Given the description of an element on the screen output the (x, y) to click on. 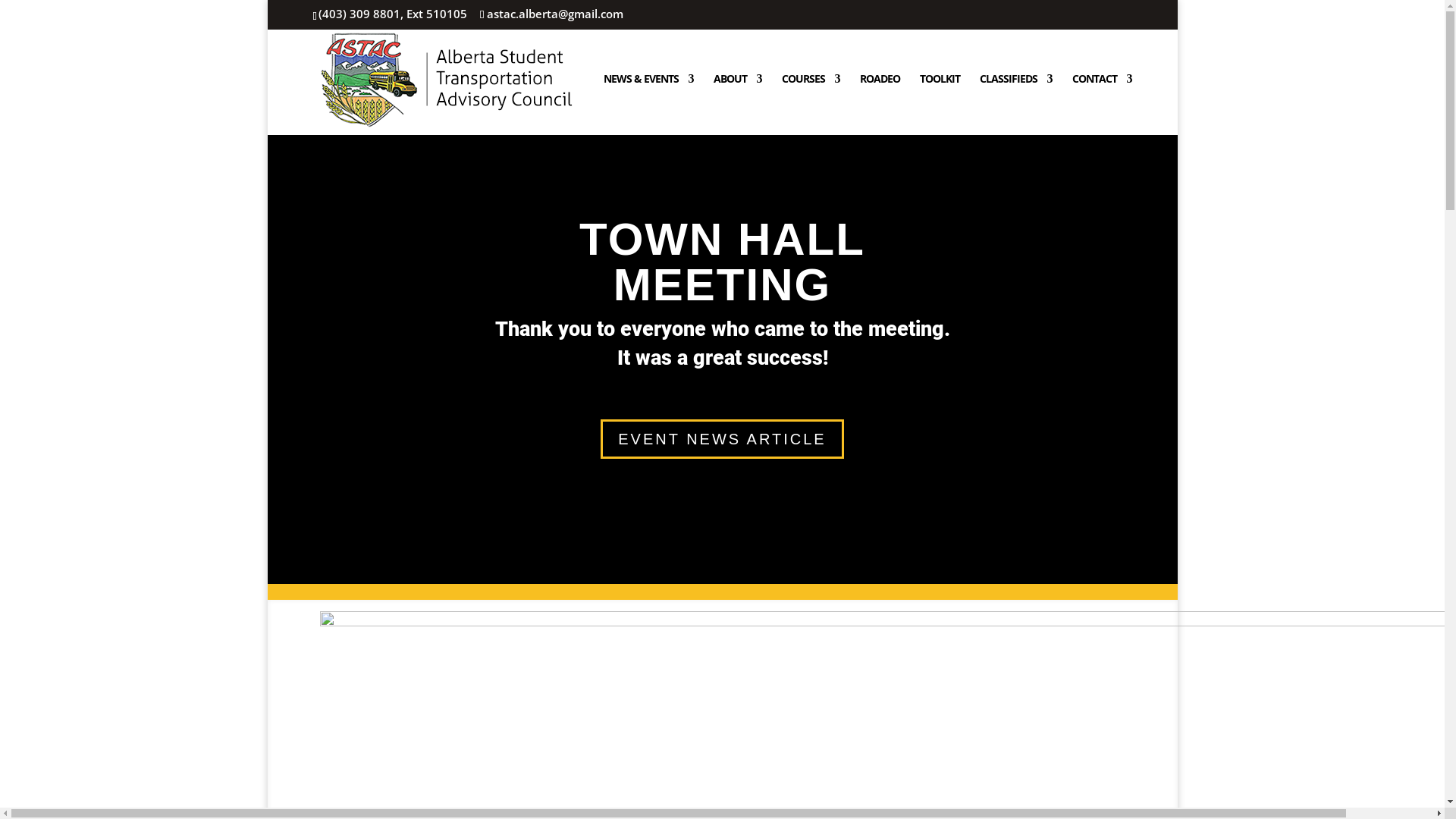
CLASSIFIEDS Element type: text (1015, 103)
TOOLKIT Element type: text (939, 103)
ROADEO Element type: text (879, 103)
EVENT NEWS ARTICLE Element type: text (721, 438)
astac.alberta@gmail.com Element type: text (551, 13)
ABOUT Element type: text (736, 103)
CONTACT Element type: text (1102, 103)
NEWS & EVENTS Element type: text (648, 103)
COURSES Element type: text (810, 103)
